Given the description of an element on the screen output the (x, y) to click on. 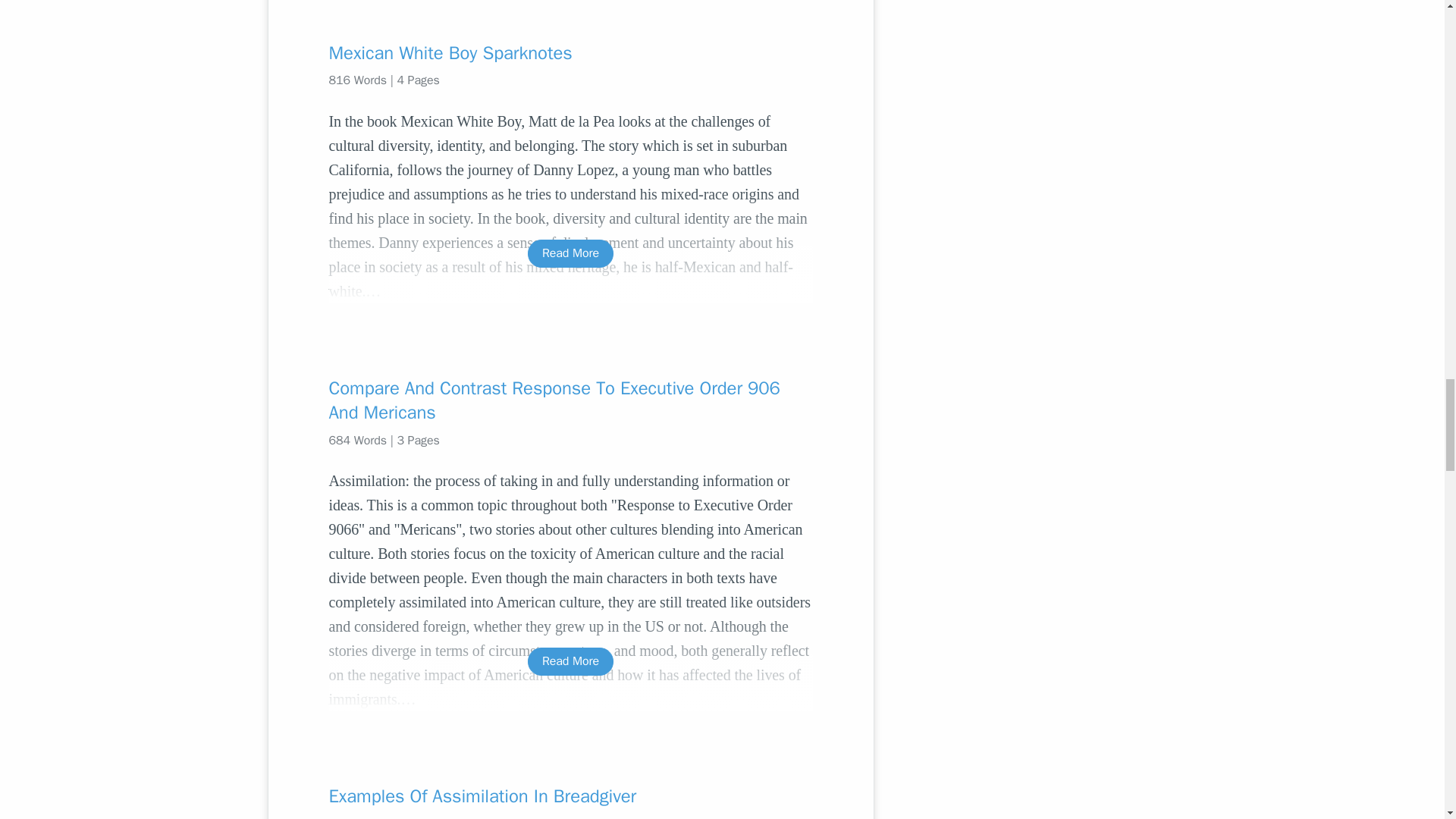
Examples Of Assimilation In Breadgiver (570, 795)
Mexican White Boy Sparknotes (570, 52)
Read More (569, 661)
Read More (569, 253)
